Given the description of an element on the screen output the (x, y) to click on. 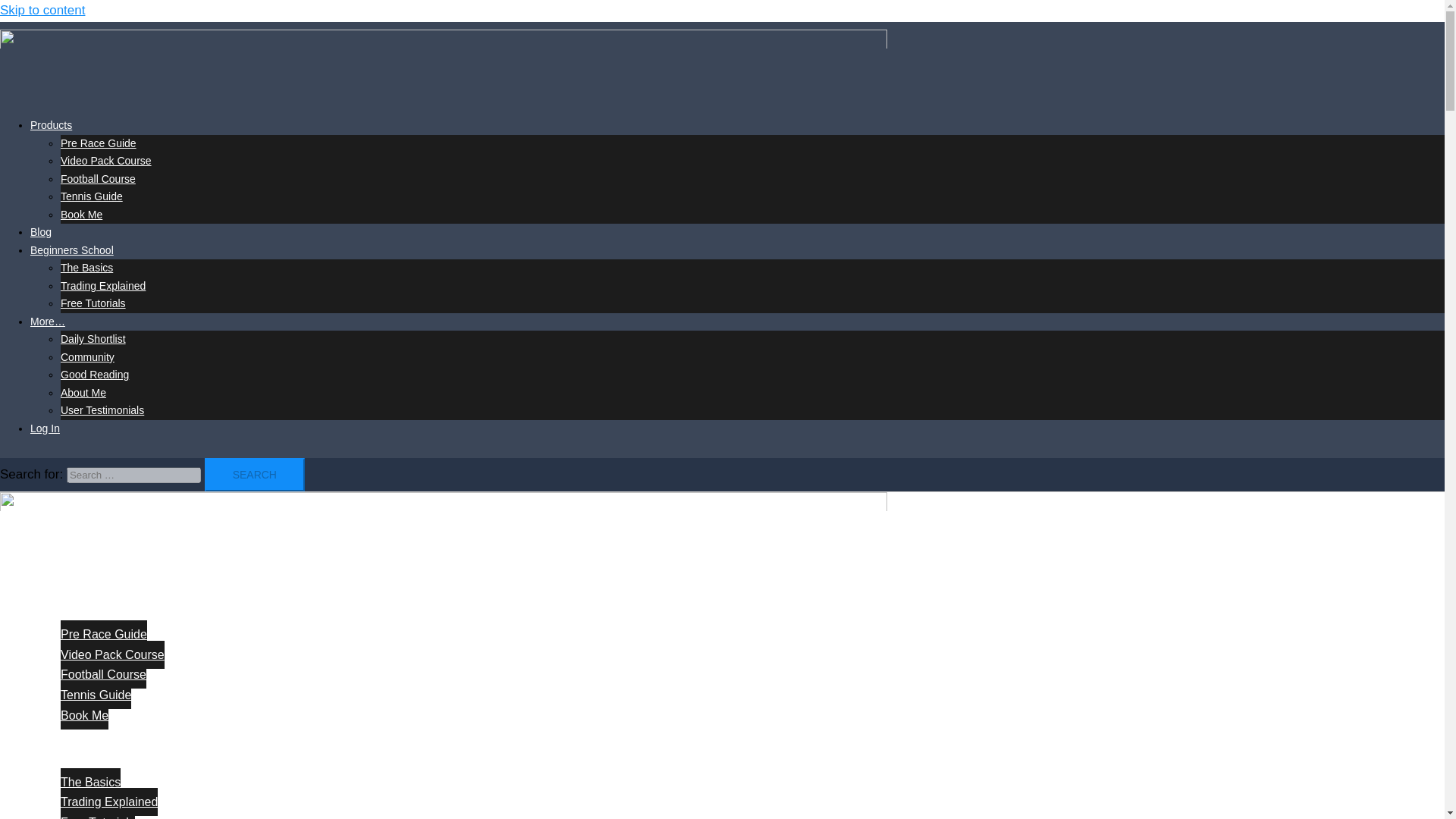
Log In (44, 428)
Good Reading (95, 374)
About Me (83, 392)
Football Course (98, 178)
User Testimonials (102, 410)
Pre Race Guide (104, 633)
Video Pack Course (112, 654)
Search (254, 474)
Free Tutorials (93, 303)
The Basics (87, 267)
Video Pack Course (106, 160)
Free Tutorials (98, 813)
Trading Explained (109, 801)
Search (254, 474)
Beginners School (71, 250)
